Given the description of an element on the screen output the (x, y) to click on. 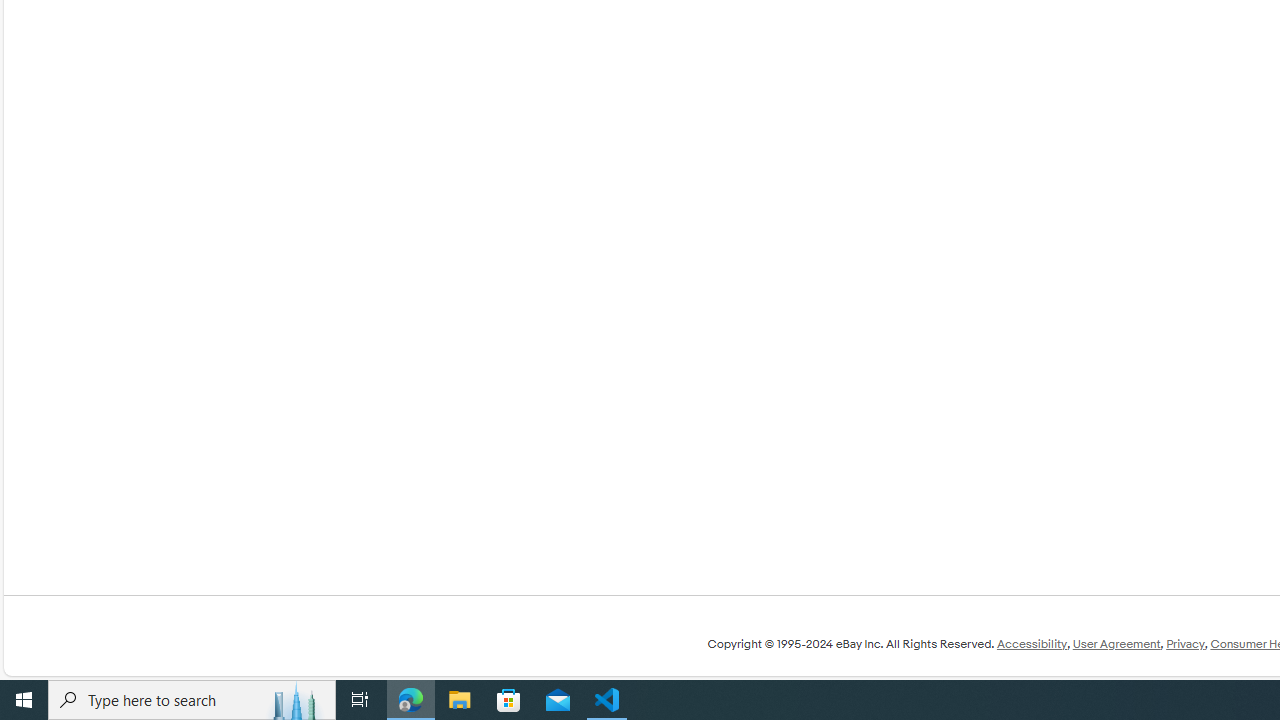
User Agreement (1116, 644)
Accessibility (1031, 644)
